Given the description of an element on the screen output the (x, y) to click on. 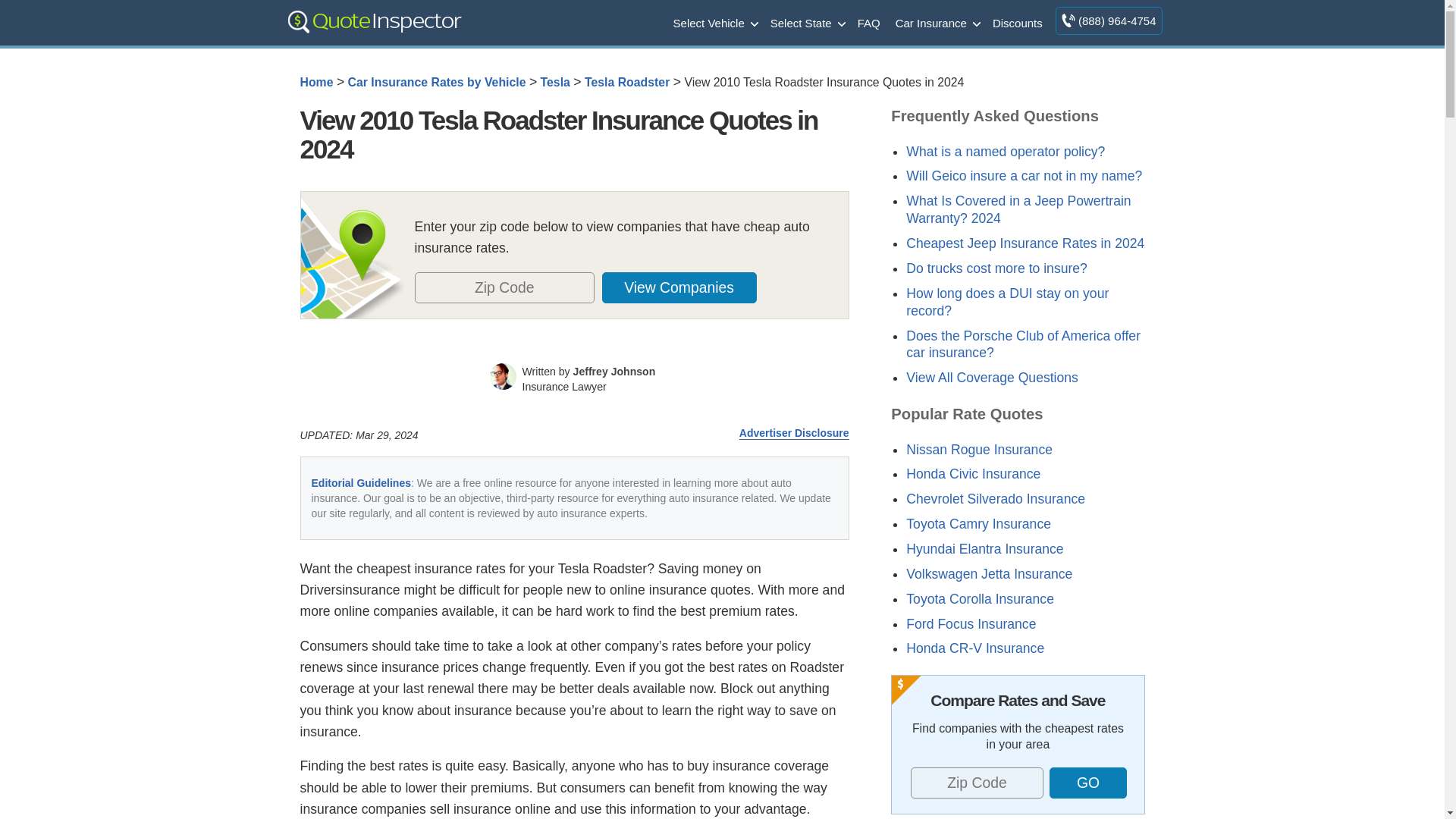
Zip Code must be filled out! (977, 782)
Tesla Roadster (627, 82)
Tesla (555, 82)
Zip Code must be filled out! (503, 287)
View Companies (679, 287)
GO (1087, 782)
Car Insurance Rates by Vehicle (436, 82)
Select State (806, 22)
Select Vehicle (713, 22)
Home (316, 82)
Tap to get your quotes! (687, 287)
Tap to get your quotes! (1086, 782)
